Given the description of an element on the screen output the (x, y) to click on. 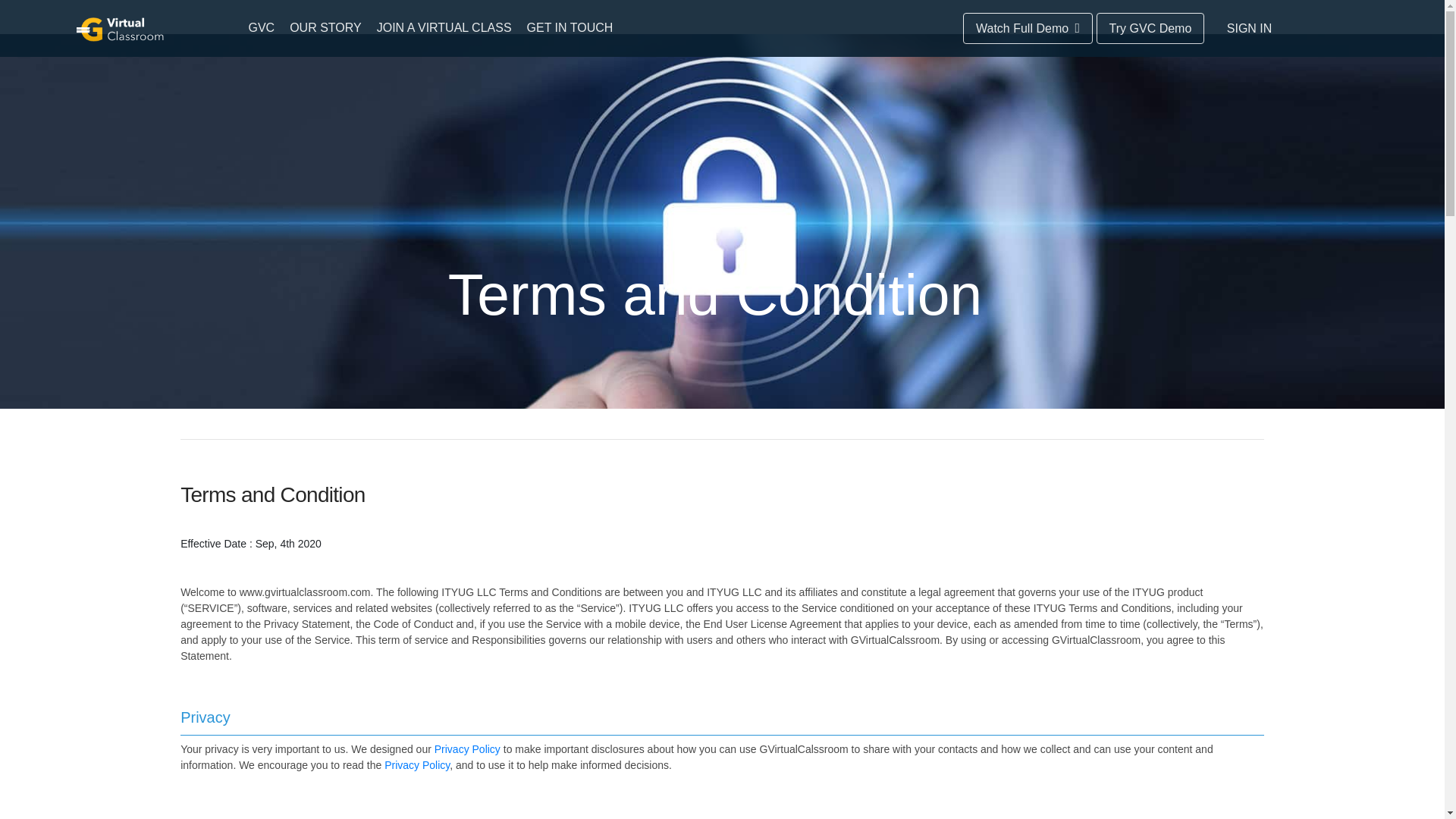
Go to gvc (120, 29)
Try GVC Demo (1150, 28)
Privacy Policy (416, 765)
Watch Full Demo (1027, 28)
OUR STORY (325, 27)
Privacy Policy (466, 748)
GET IN TOUCH (570, 27)
SIGN IN (1249, 28)
JOIN A VIRTUAL CLASS (444, 27)
